Given the description of an element on the screen output the (x, y) to click on. 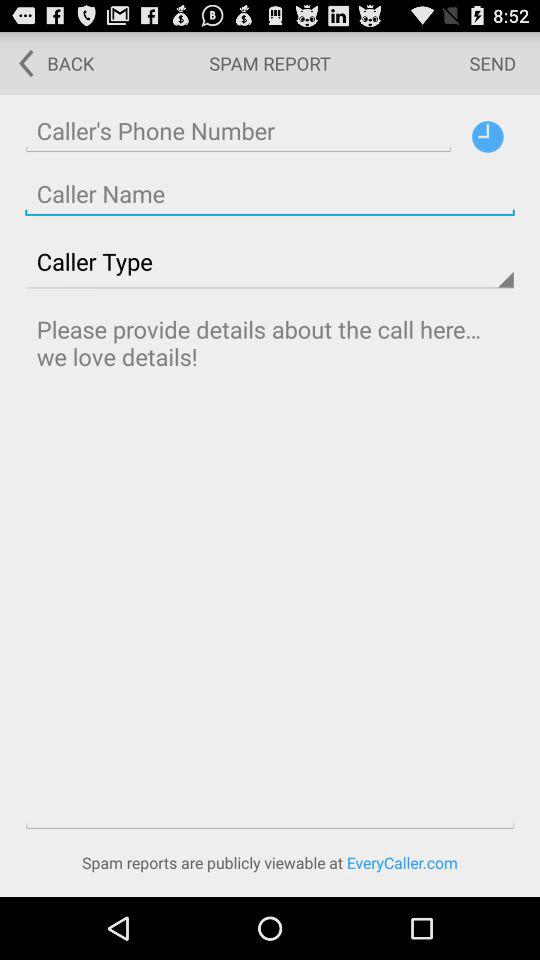
enter details (270, 568)
